Given the description of an element on the screen output the (x, y) to click on. 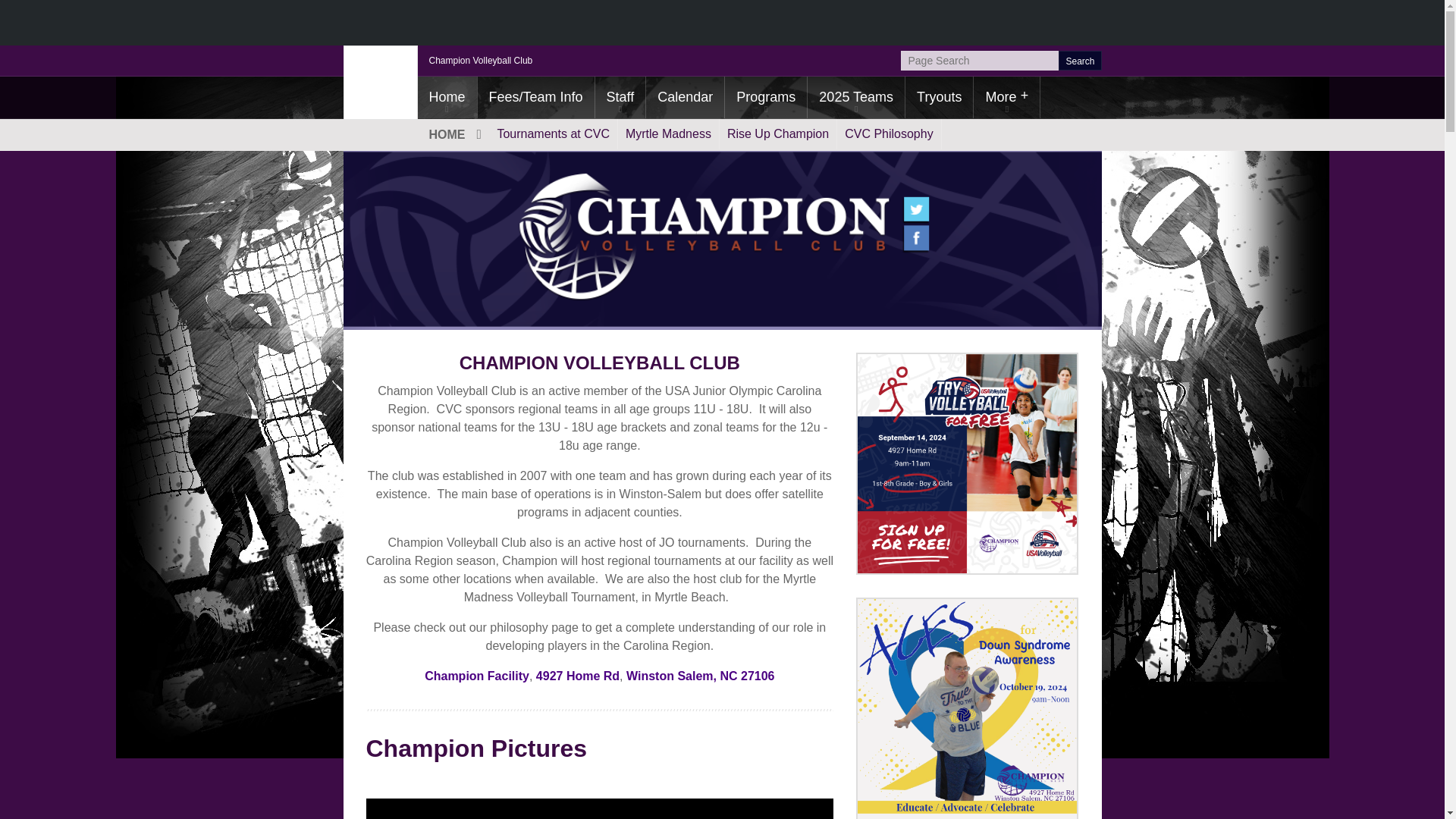
click to go to 'CVC Philosophy' (888, 133)
2025 Teams (856, 96)
click to go to 'Additional Programs' (765, 96)
click to go to 'Myrtle Madness Volleyball Tournament' (668, 133)
click to go to 'Rise Up Champion Challenge' (777, 133)
HOME (452, 133)
click to go to 'Staff' (620, 96)
Staff (620, 96)
click to go to 'Tryouts' (938, 96)
Champion Facility (477, 675)
